Given the description of an element on the screen output the (x, y) to click on. 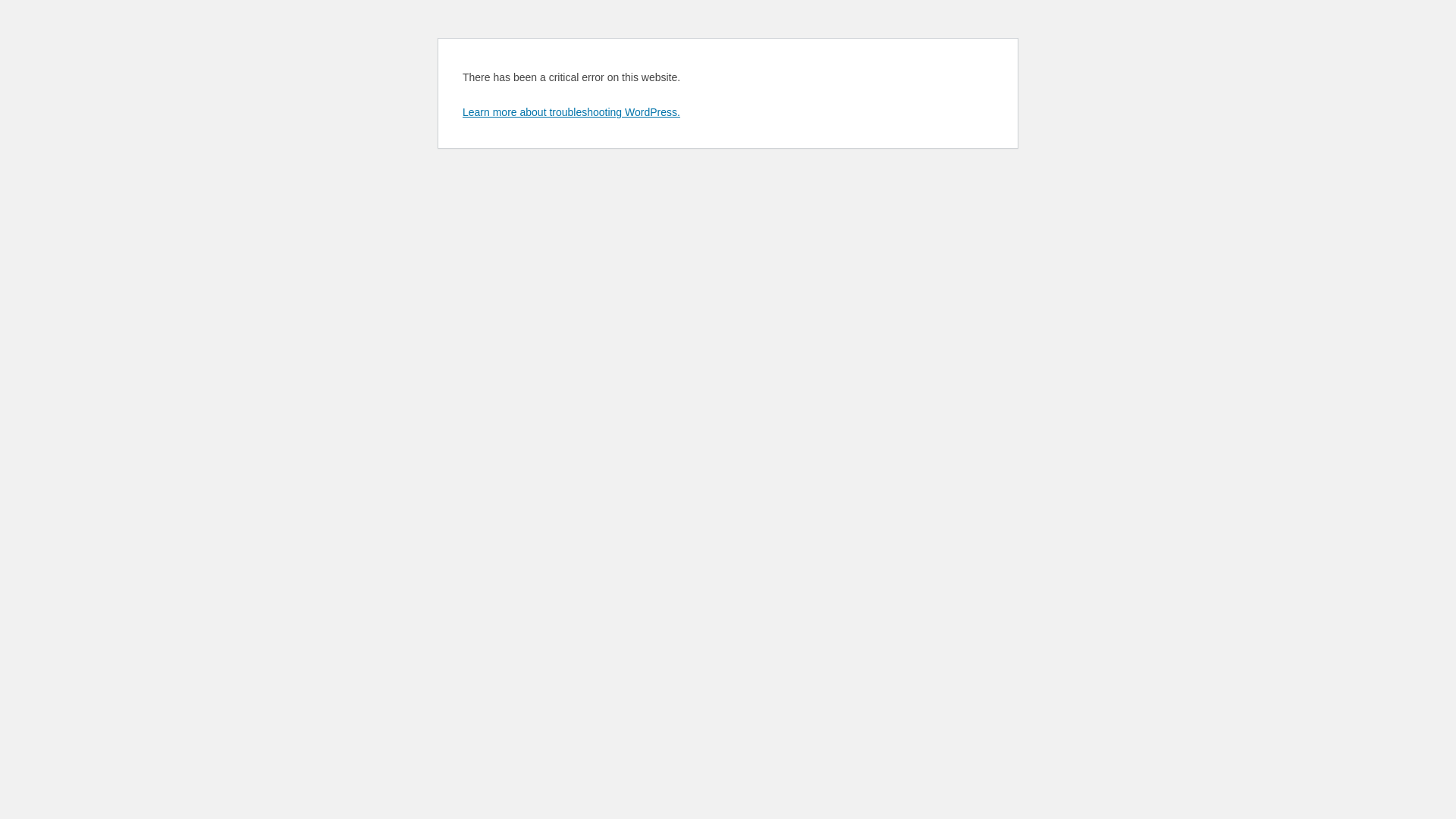
Learn more about troubleshooting WordPress. Element type: text (571, 112)
